Given the description of an element on the screen output the (x, y) to click on. 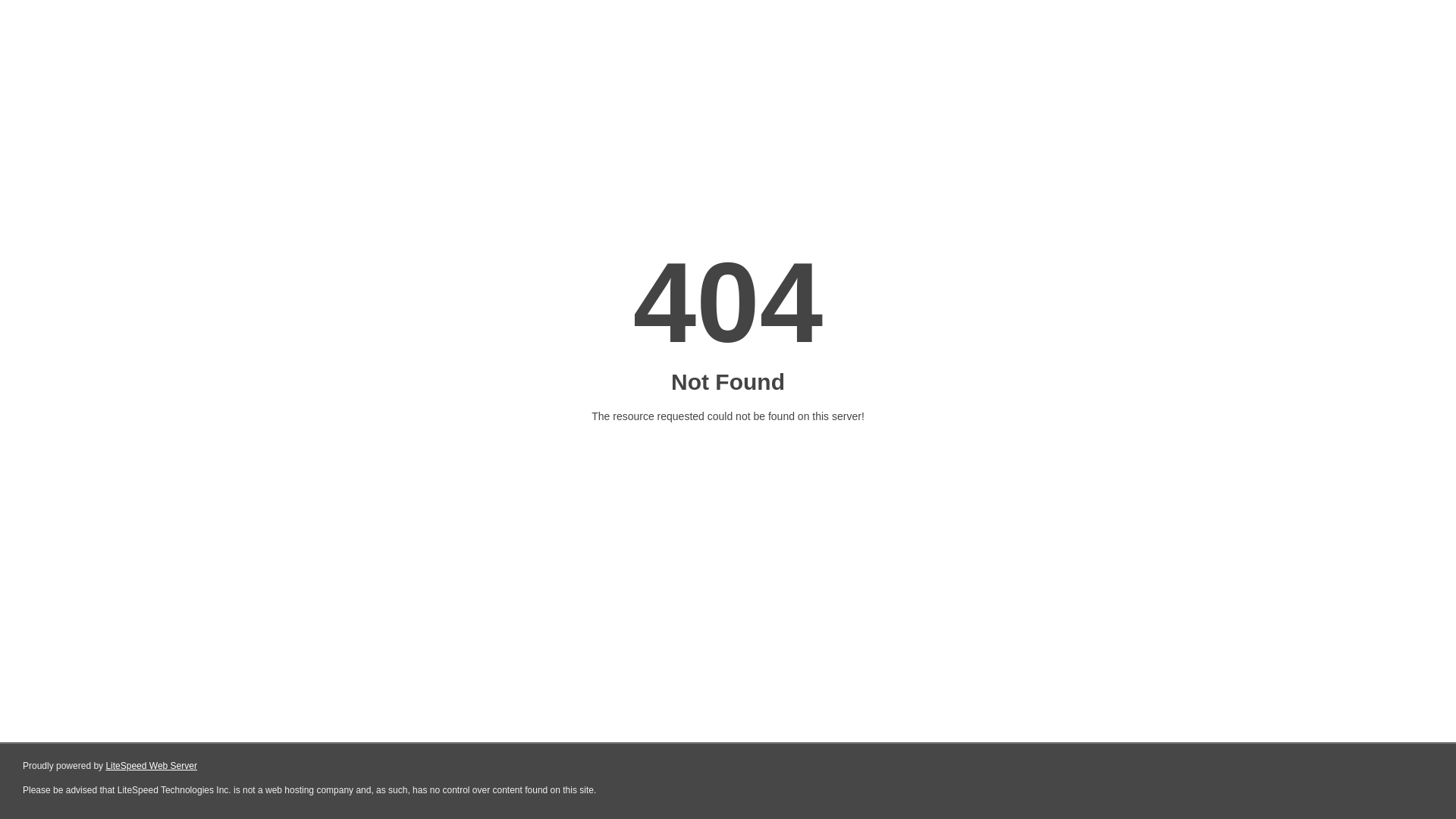
LiteSpeed Web Server Element type: text (151, 765)
